Given the description of an element on the screen output the (x, y) to click on. 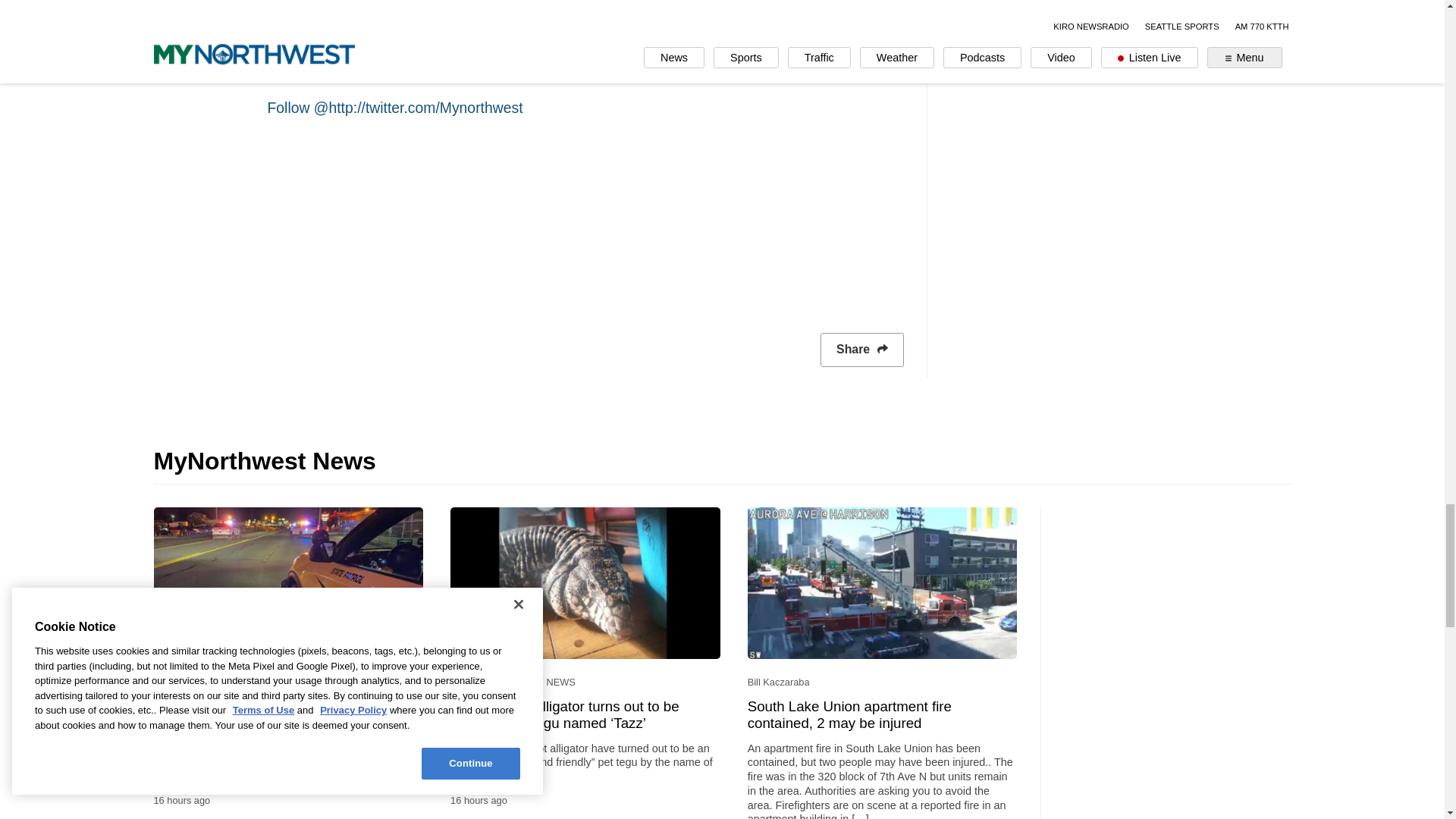
3rd party ad content (1176, 601)
Signup Widget Embed (584, 218)
